Given the description of an element on the screen output the (x, y) to click on. 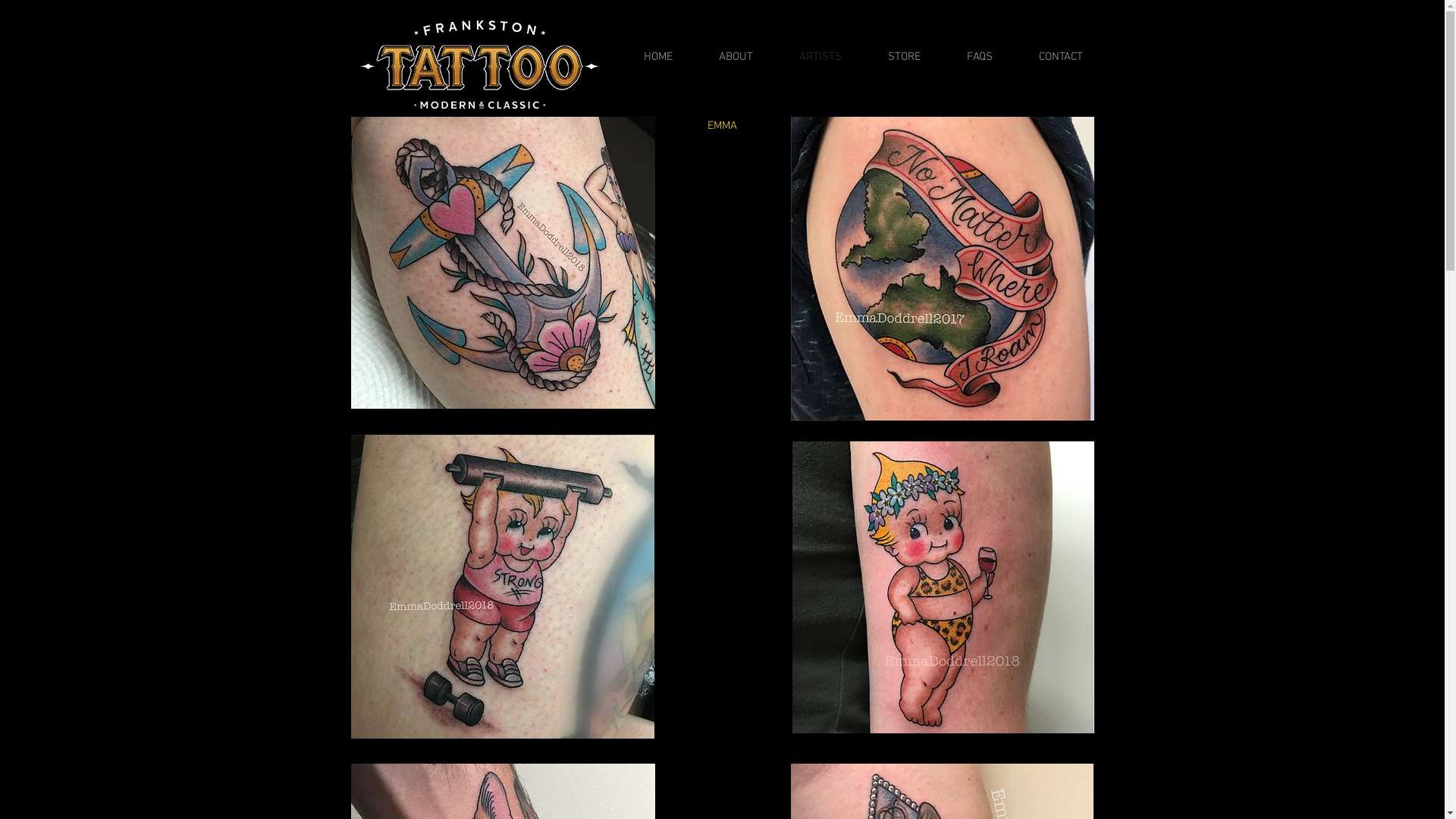
STORE Element type: text (891, 56)
ABOUT Element type: text (724, 56)
CONTACT Element type: text (1049, 56)
FAQS Element type: text (967, 56)
ARTISTS Element type: text (808, 56)
HOME Element type: text (645, 56)
